Given the description of an element on the screen output the (x, y) to click on. 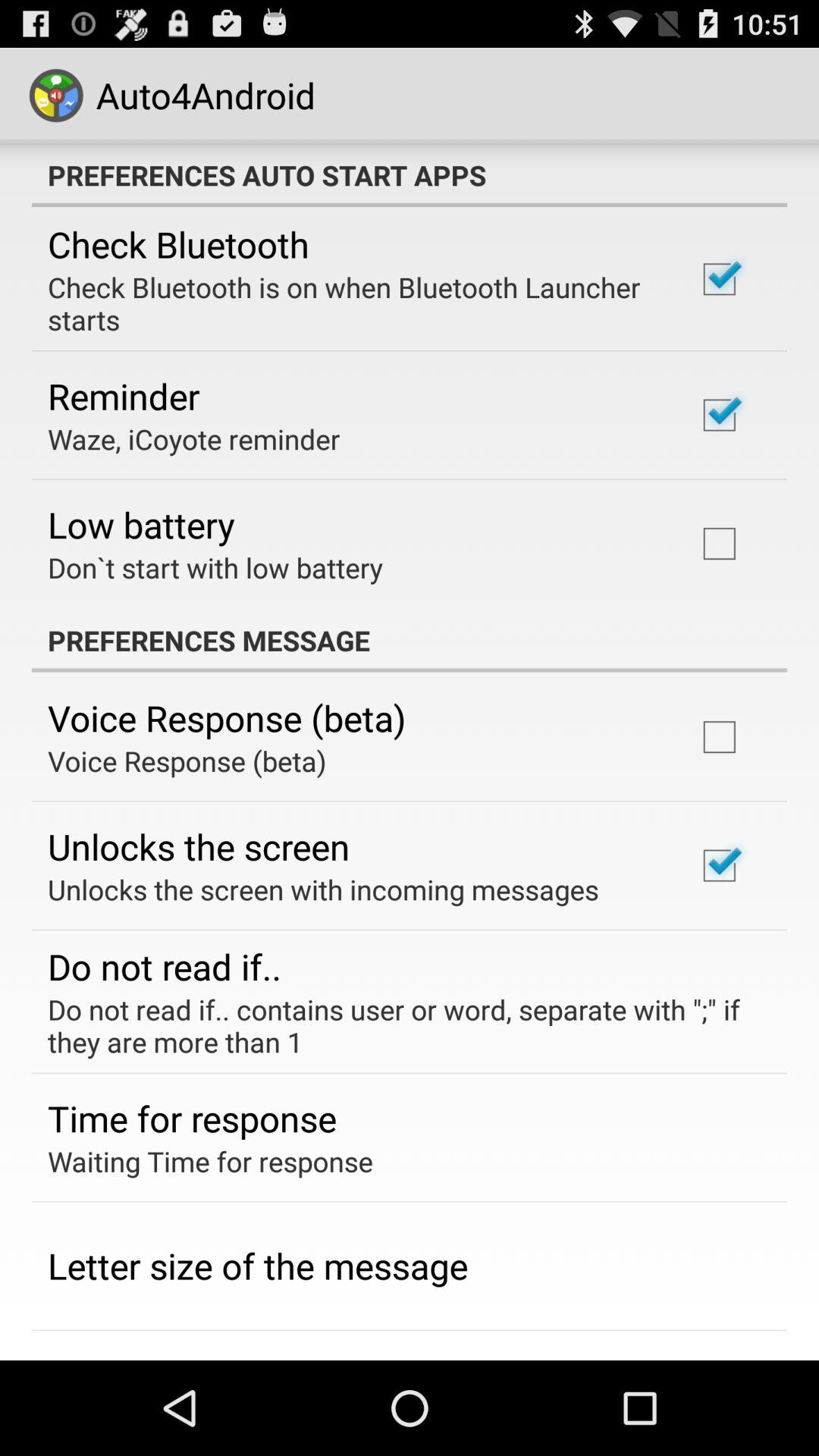
turn on app above voice response (beta) (409, 640)
